Given the description of an element on the screen output the (x, y) to click on. 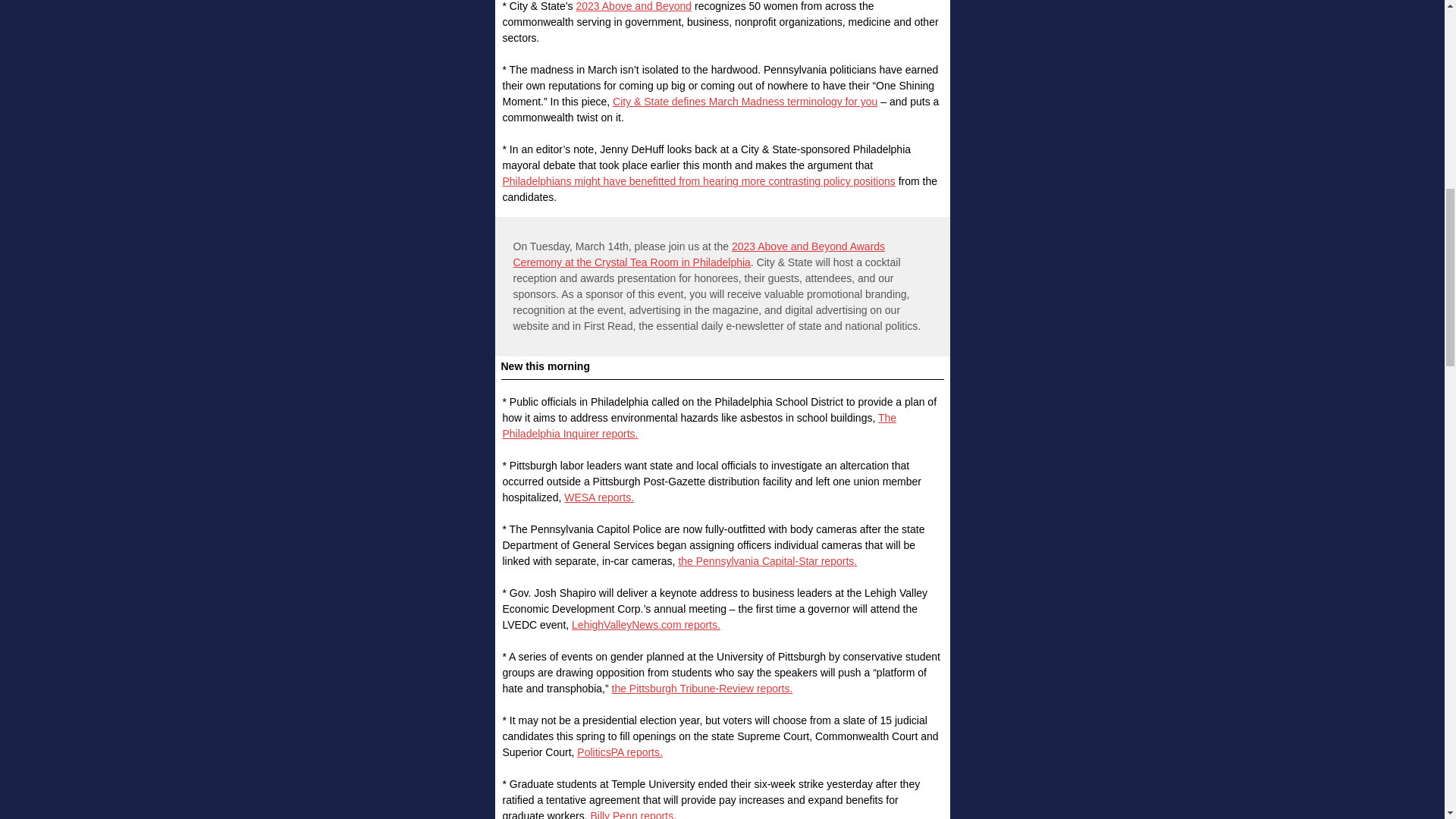
the Pittsburgh Tribune-Review reports. (701, 688)
2023 Above and Beyond (634, 6)
the Pennsylvania Capital-Star reports. (767, 561)
LehighValleyNews.com reports. (646, 624)
Billy Penn reports. (633, 814)
PoliticsPA reports. (619, 752)
The Philadelphia Inquirer reports. (699, 425)
WESA reports. (598, 497)
